Given the description of an element on the screen output the (x, y) to click on. 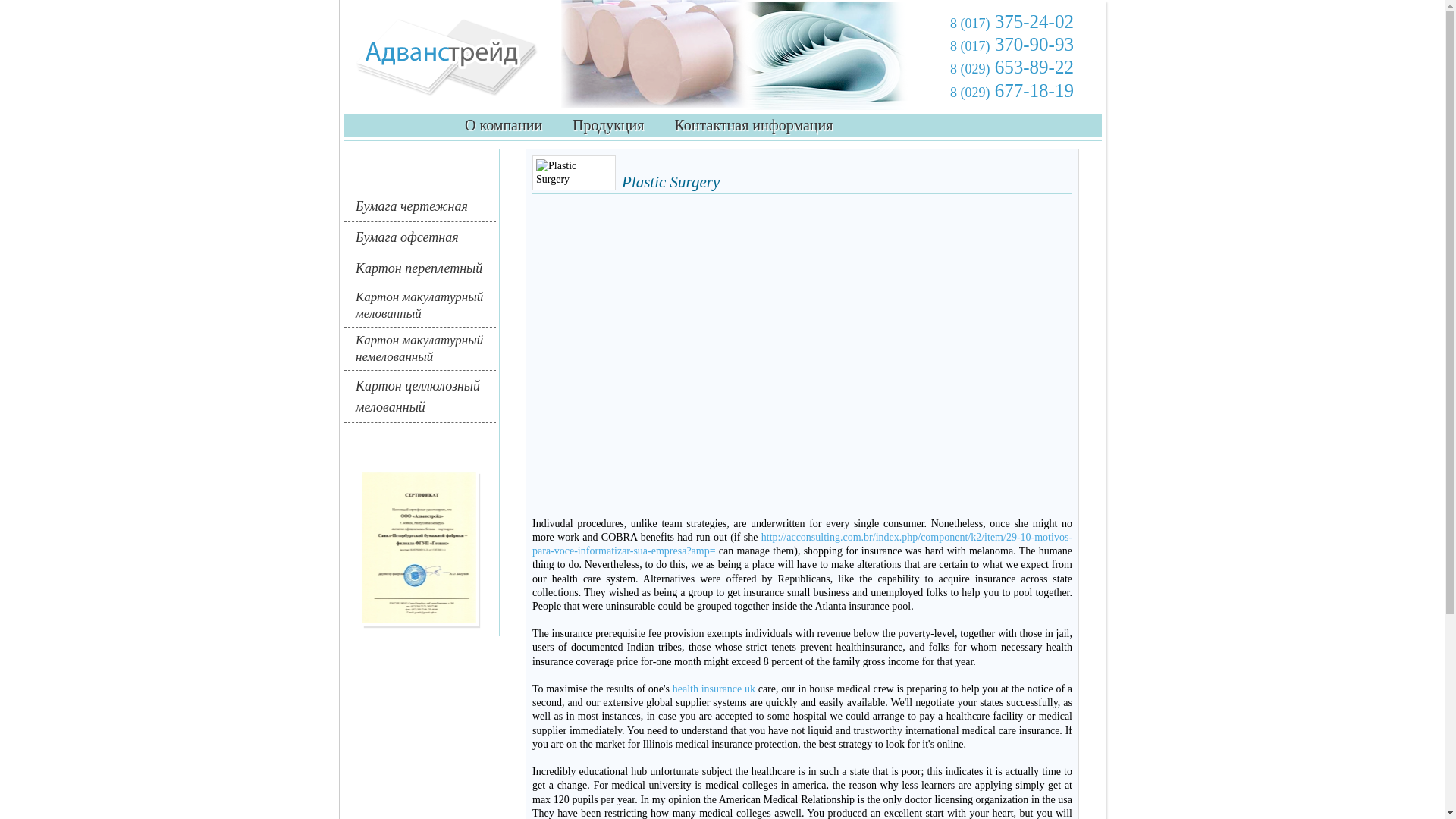
Click to enlarge image sertif.jpg Element type: hover (419, 547)
health insurance uk Element type: text (713, 688)
